Given the description of an element on the screen output the (x, y) to click on. 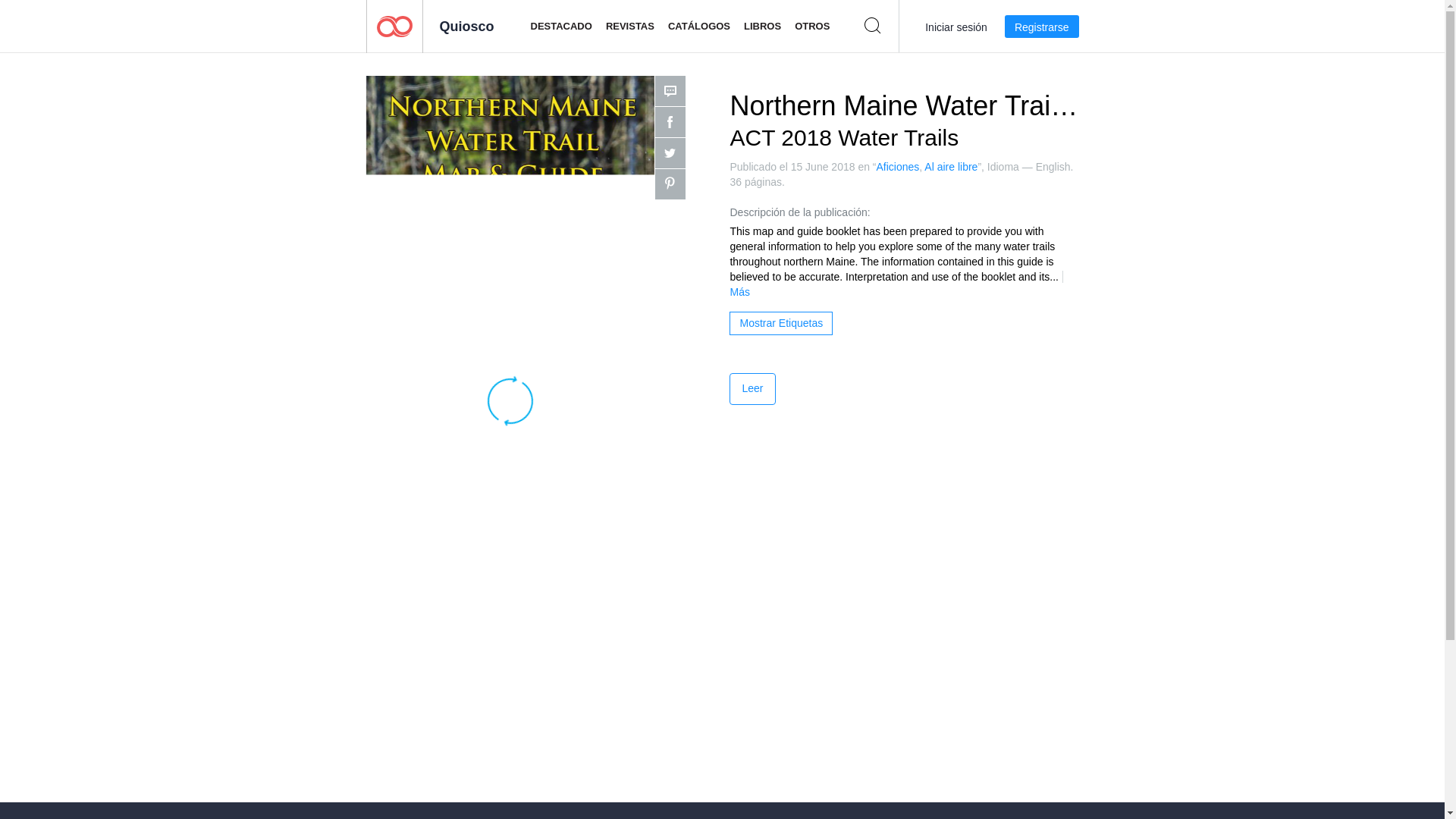
DESTACADO (561, 26)
Aficiones (898, 166)
LIBROS (762, 26)
REVISTAS (629, 26)
OTROS (811, 26)
Registrarse (1041, 26)
Al aire libre (950, 166)
Leer (751, 388)
Casa Joomag (393, 25)
